Given the description of an element on the screen output the (x, y) to click on. 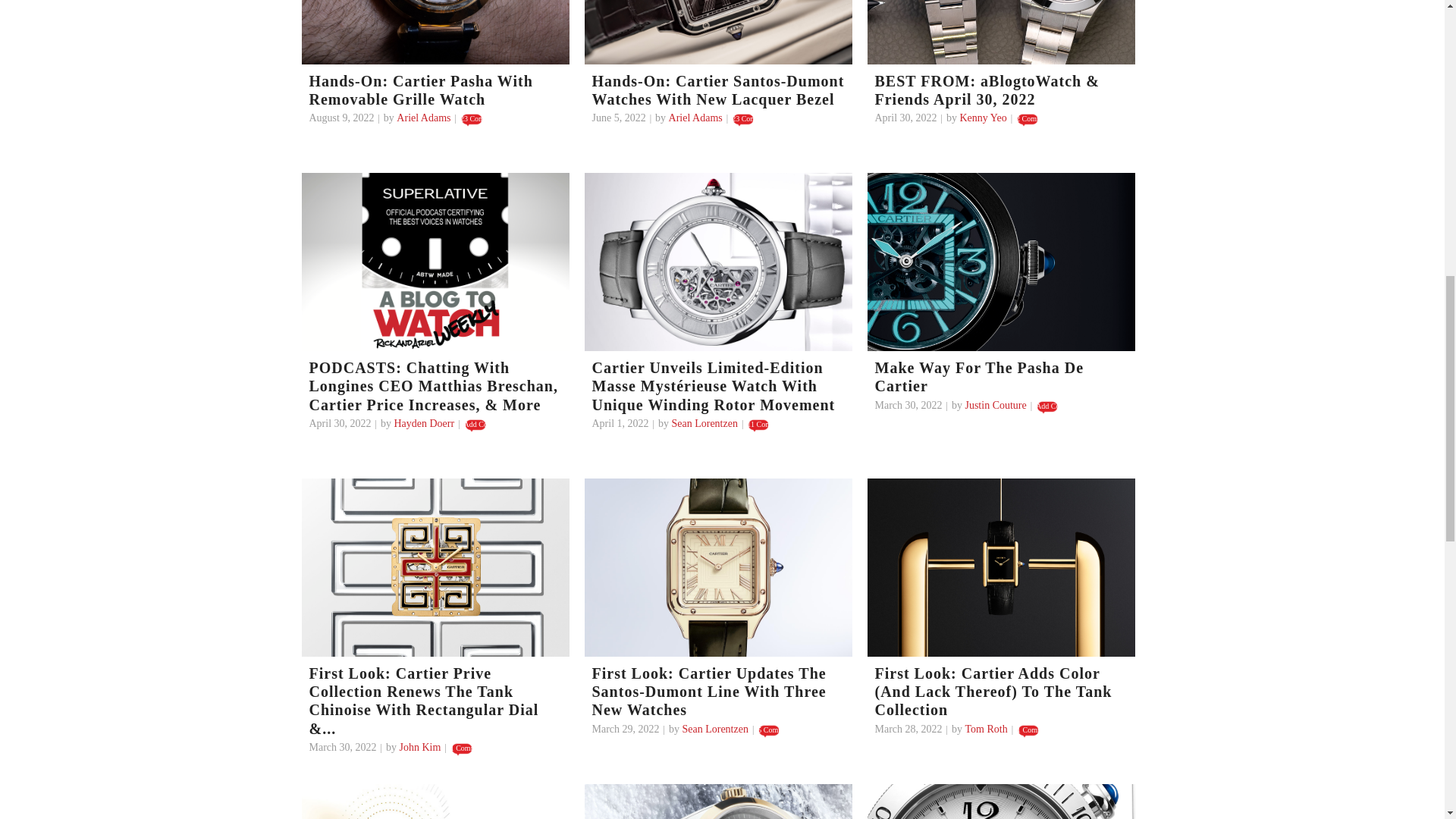
Hands-On: Cartier Pasha With Removable Grille Watch (420, 89)
Hands-On: Cartier Pasha With Removable Grille Watch (435, 32)
